Given the description of an element on the screen output the (x, y) to click on. 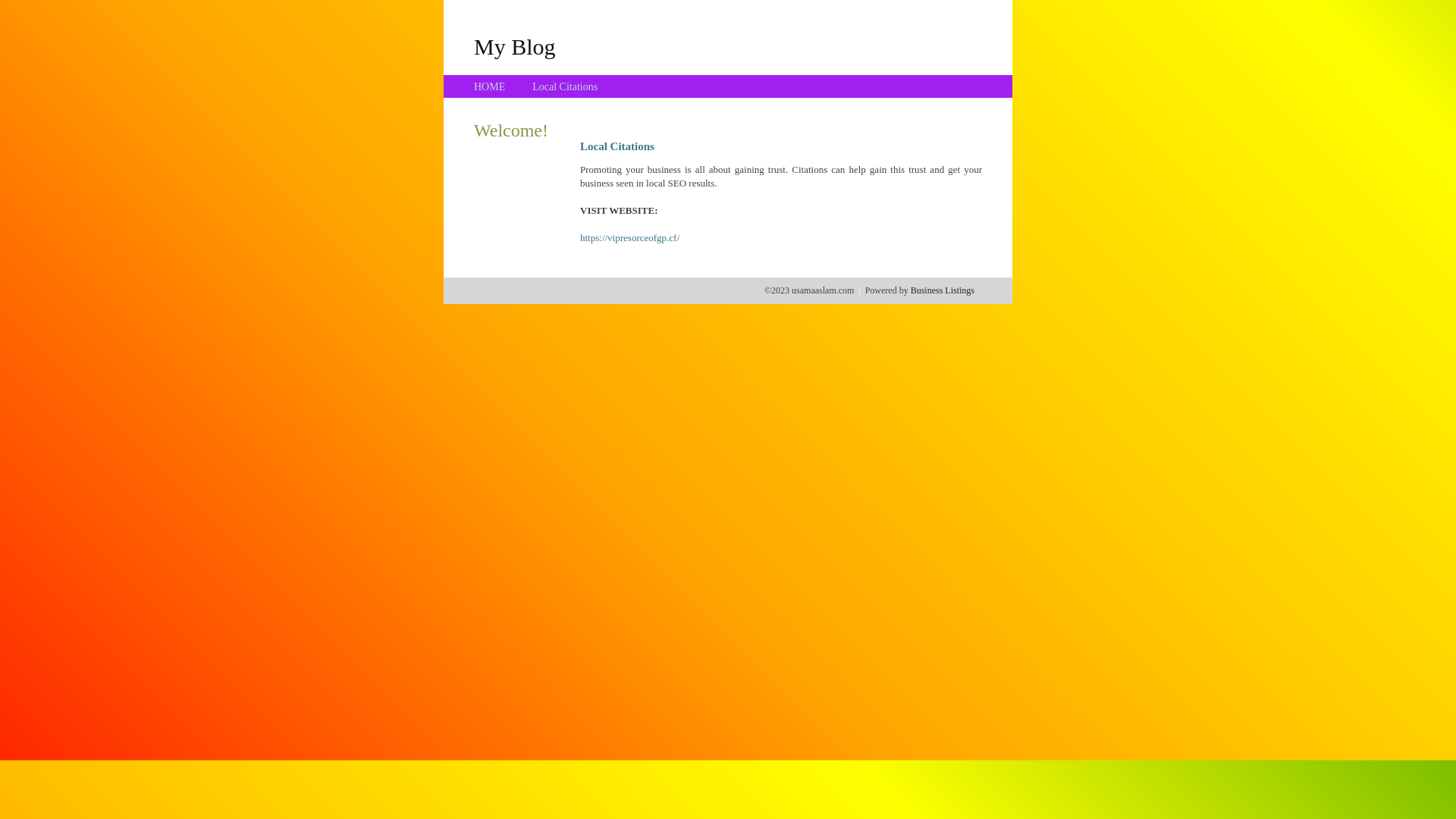
Local Citations Element type: text (564, 86)
https://vipresorceofgp.cf/ Element type: text (629, 237)
HOME Element type: text (489, 86)
Business Listings Element type: text (942, 290)
My Blog Element type: text (514, 46)
